Given the description of an element on the screen output the (x, y) to click on. 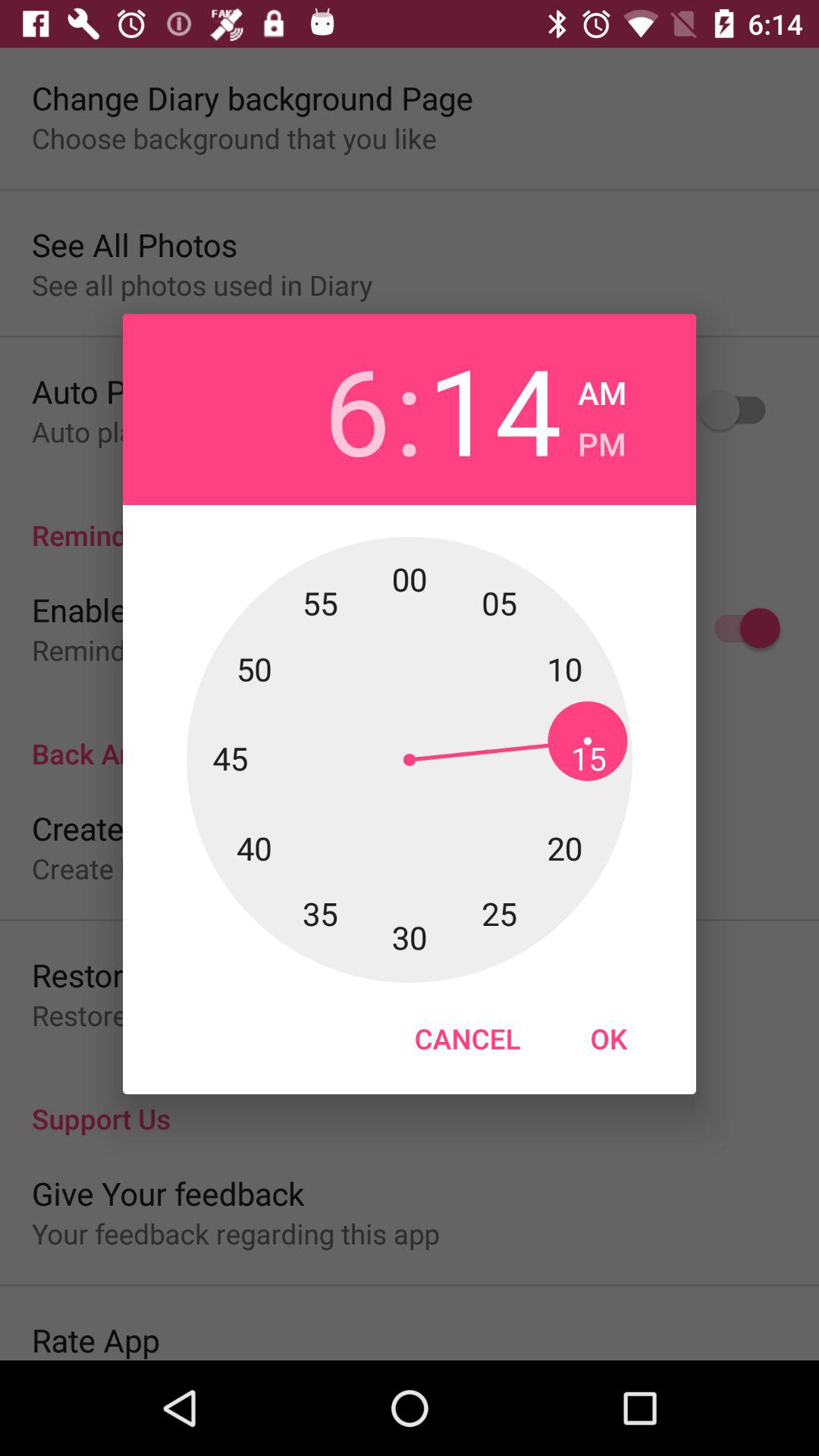
turn off the icon to the left of : (323, 408)
